Given the description of an element on the screen output the (x, y) to click on. 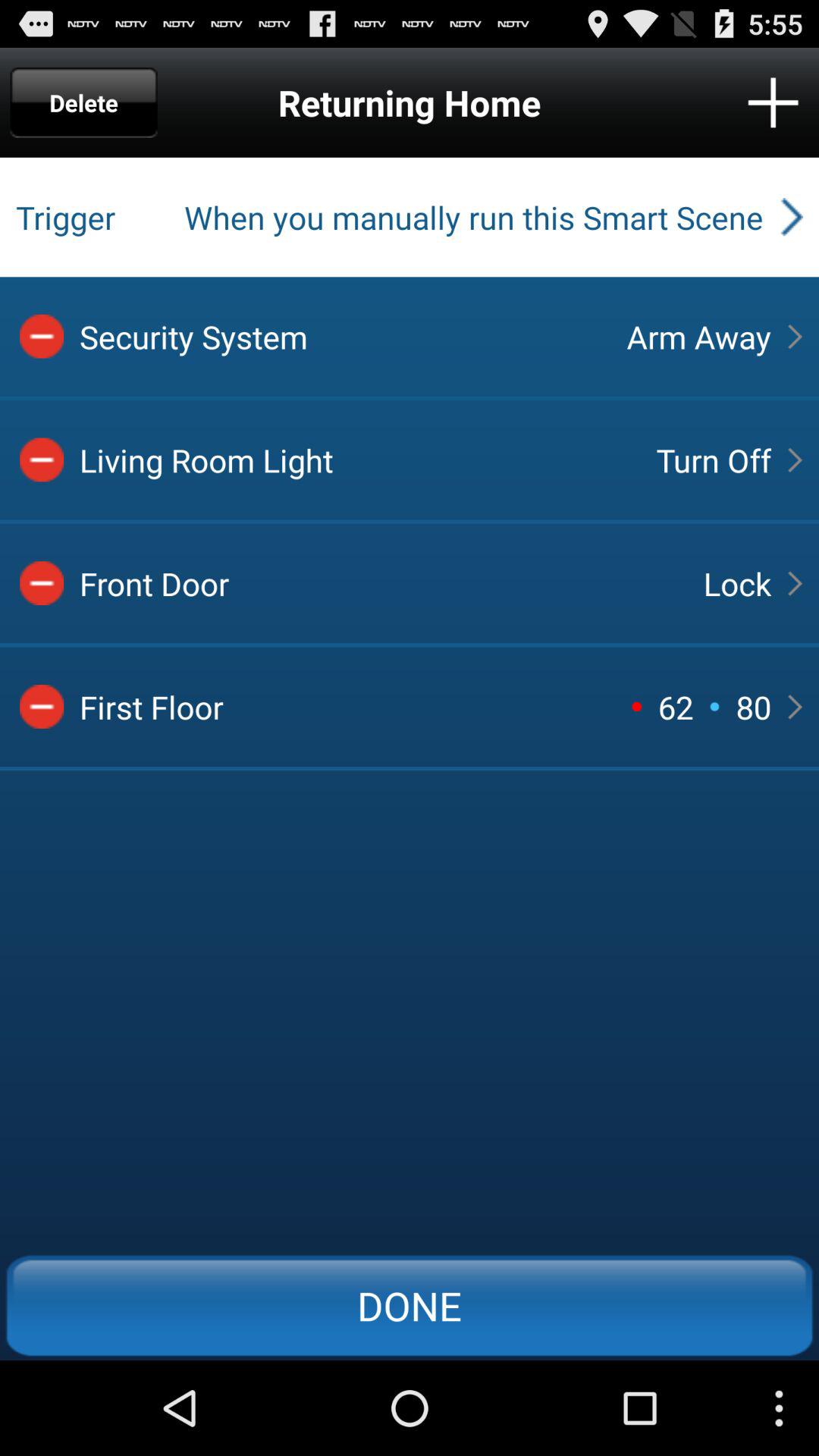
click icon above done icon (714, 706)
